Given the description of an element on the screen output the (x, y) to click on. 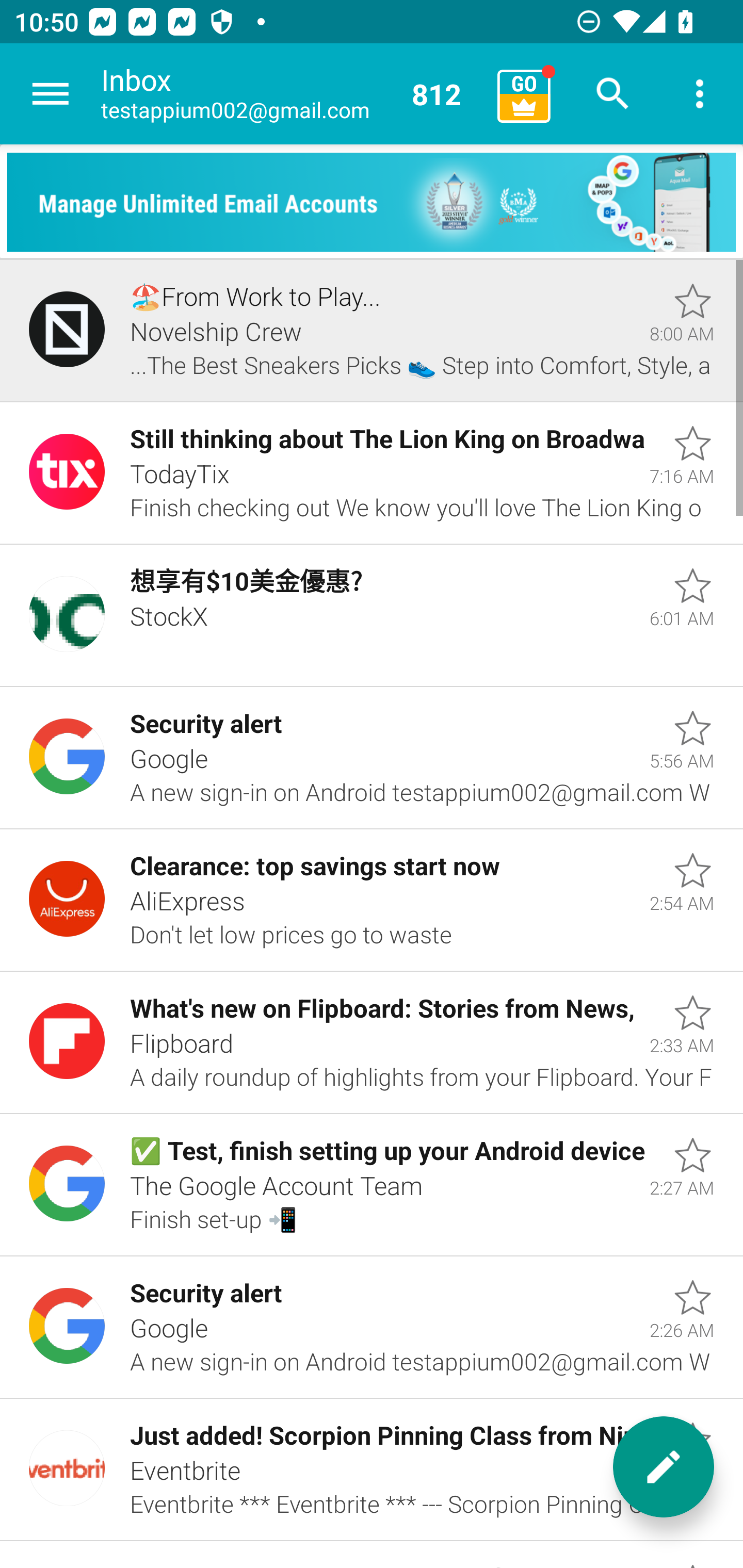
Navigate up (50, 93)
Inbox testappium002@gmail.com 812 (291, 93)
Search (612, 93)
More options (699, 93)
Unread, 想享有$10美金優惠?, StockX, 6:01 AM (371, 615)
New message (663, 1466)
